Given the description of an element on the screen output the (x, y) to click on. 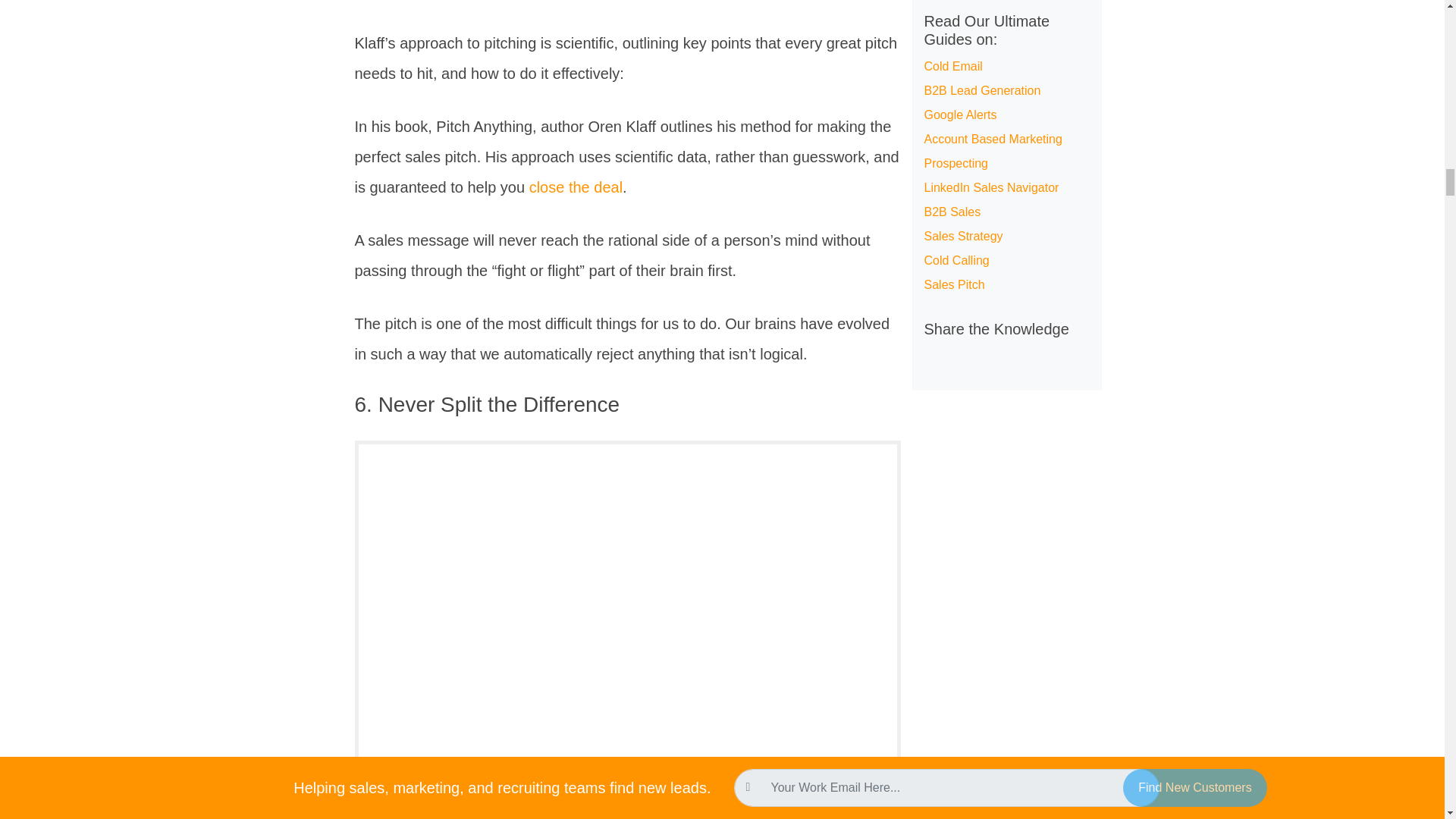
close the deal (576, 187)
Close The Deal (576, 187)
